Given the description of an element on the screen output the (x, y) to click on. 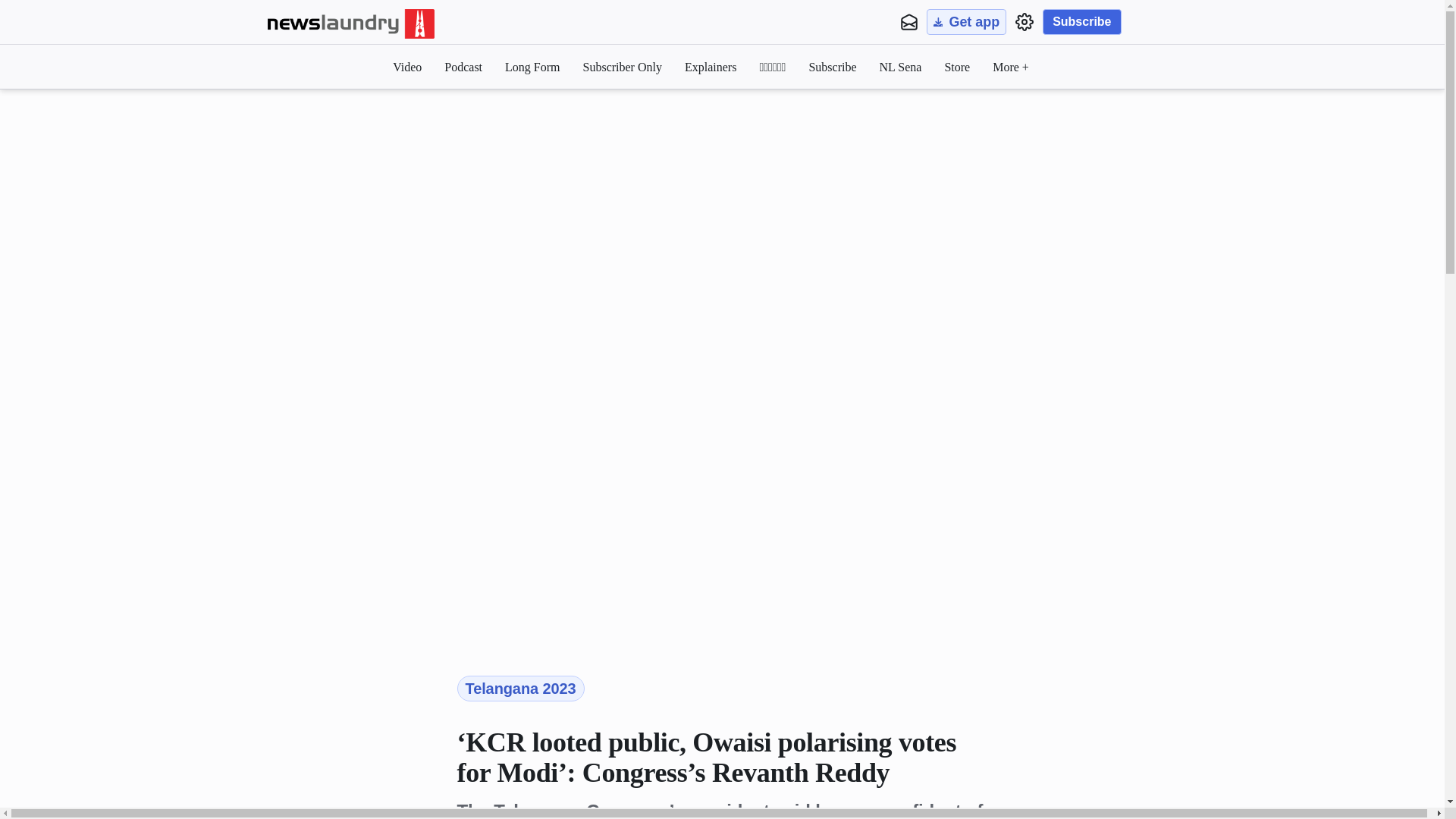
More (1010, 66)
NL Sena (900, 66)
Store (956, 66)
Explainers (710, 66)
Subscriber Only (622, 66)
Long Form (532, 66)
Subscribe (1081, 22)
Telangana 2023 (520, 688)
Get app (966, 22)
